Given the description of an element on the screen output the (x, y) to click on. 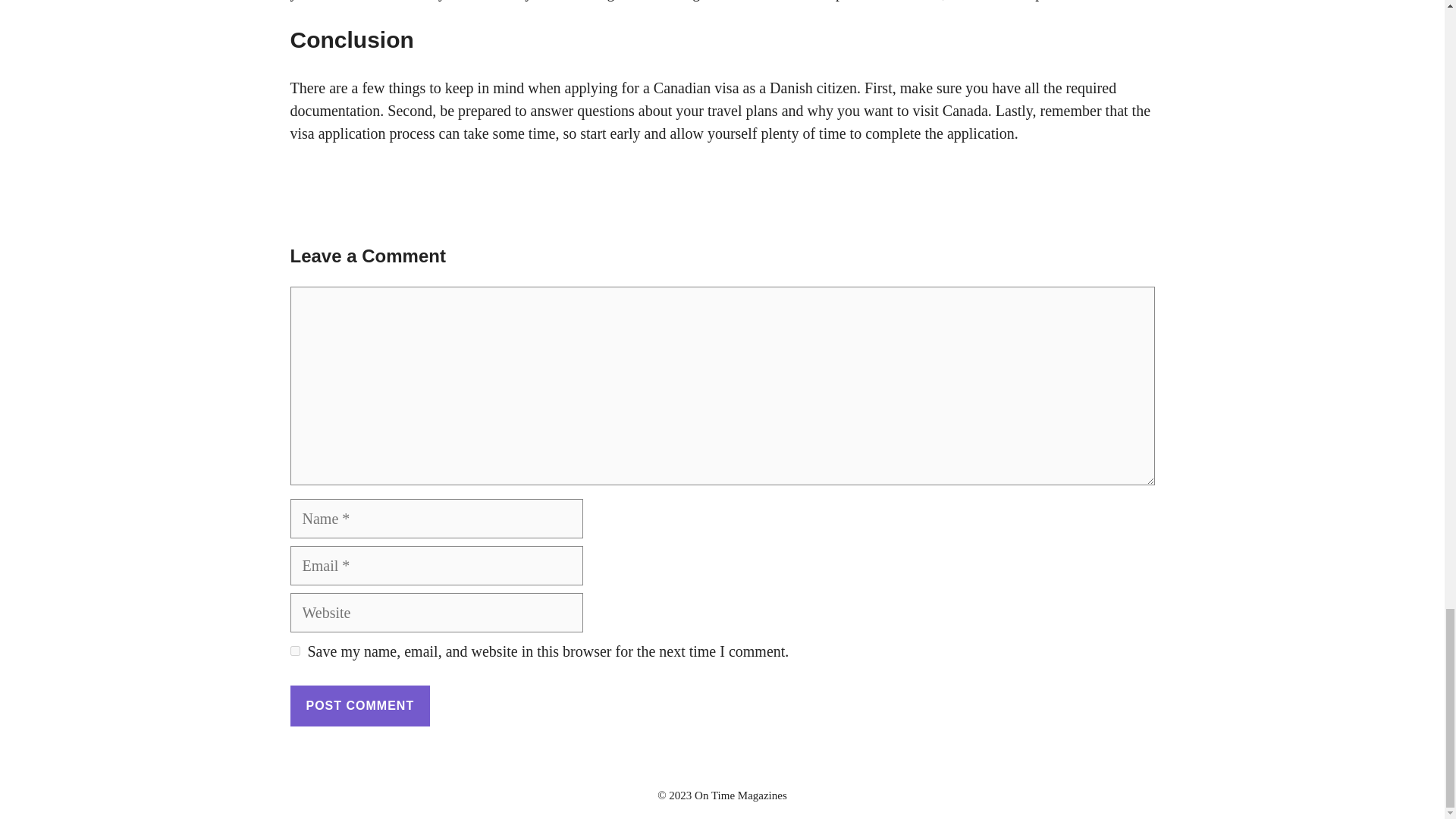
yes (294, 651)
Post Comment (359, 705)
Post Comment (359, 705)
